Given the description of an element on the screen output the (x, y) to click on. 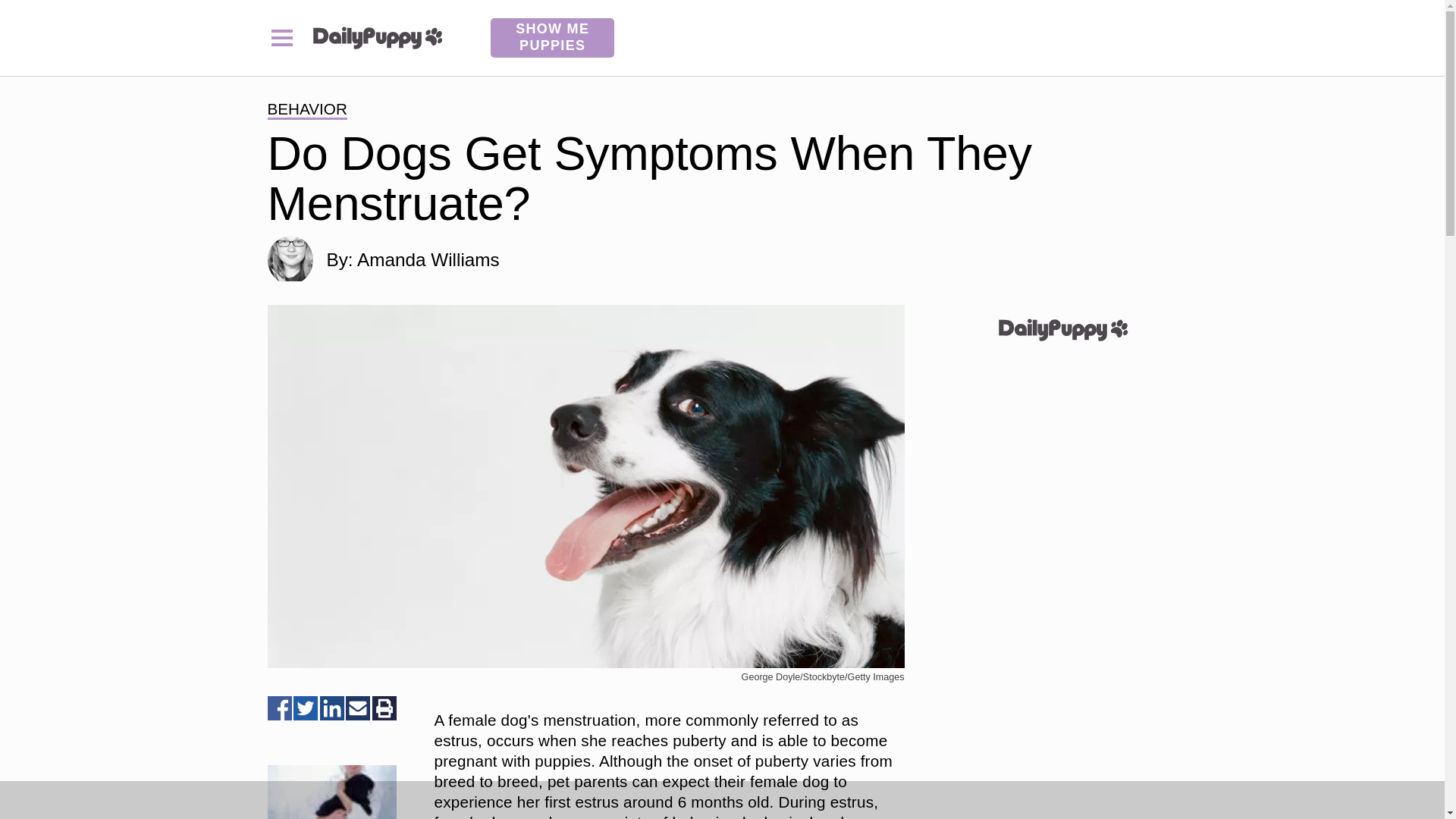
SHOW ME PUPPIES (552, 37)
